Given the description of an element on the screen output the (x, y) to click on. 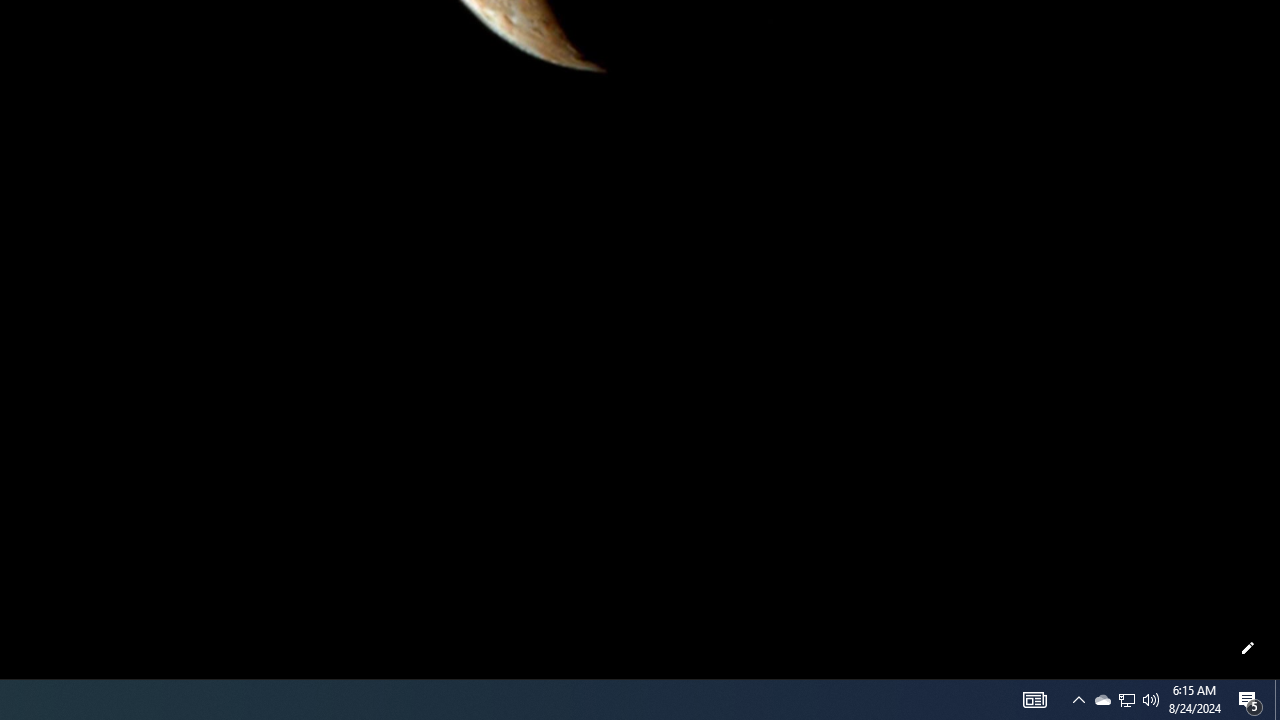
Customize this page (1247, 647)
